Given the description of an element on the screen output the (x, y) to click on. 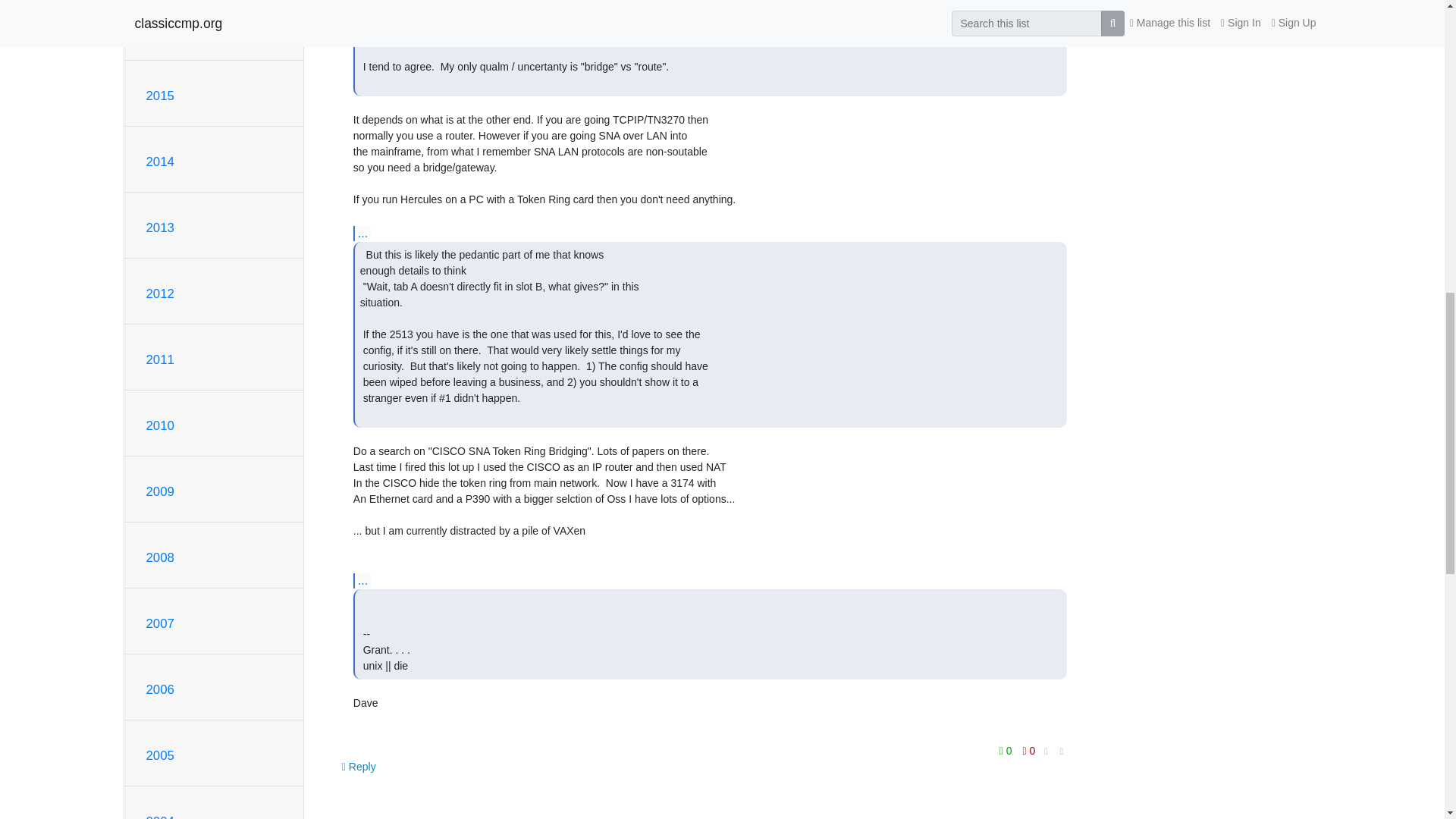
You must be logged-in to vote. (1029, 750)
Sign in to reply online (359, 766)
You must be logged-in to vote. (1007, 750)
